Given the description of an element on the screen output the (x, y) to click on. 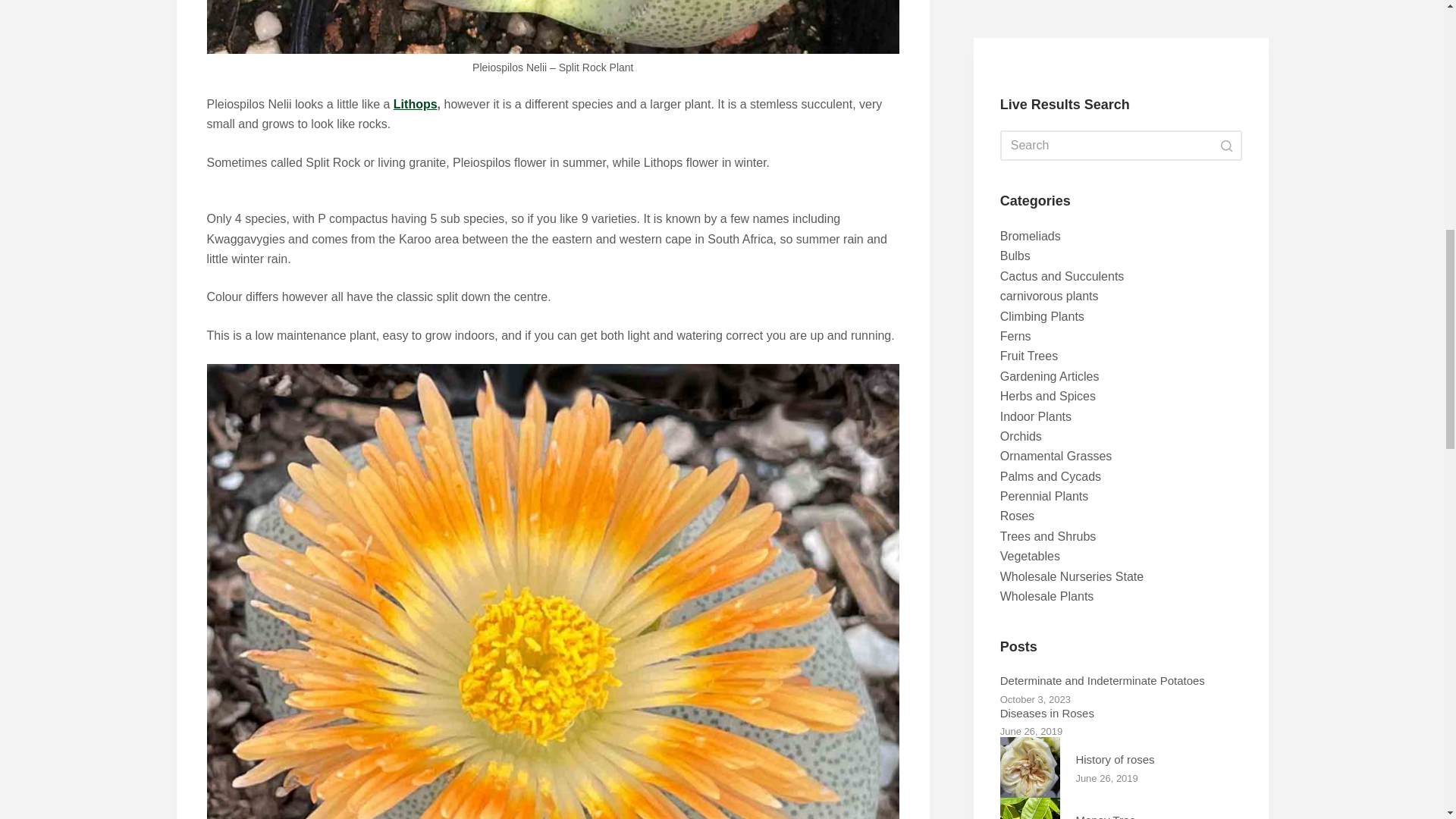
Lithops (415, 103)
